Given the description of an element on the screen output the (x, y) to click on. 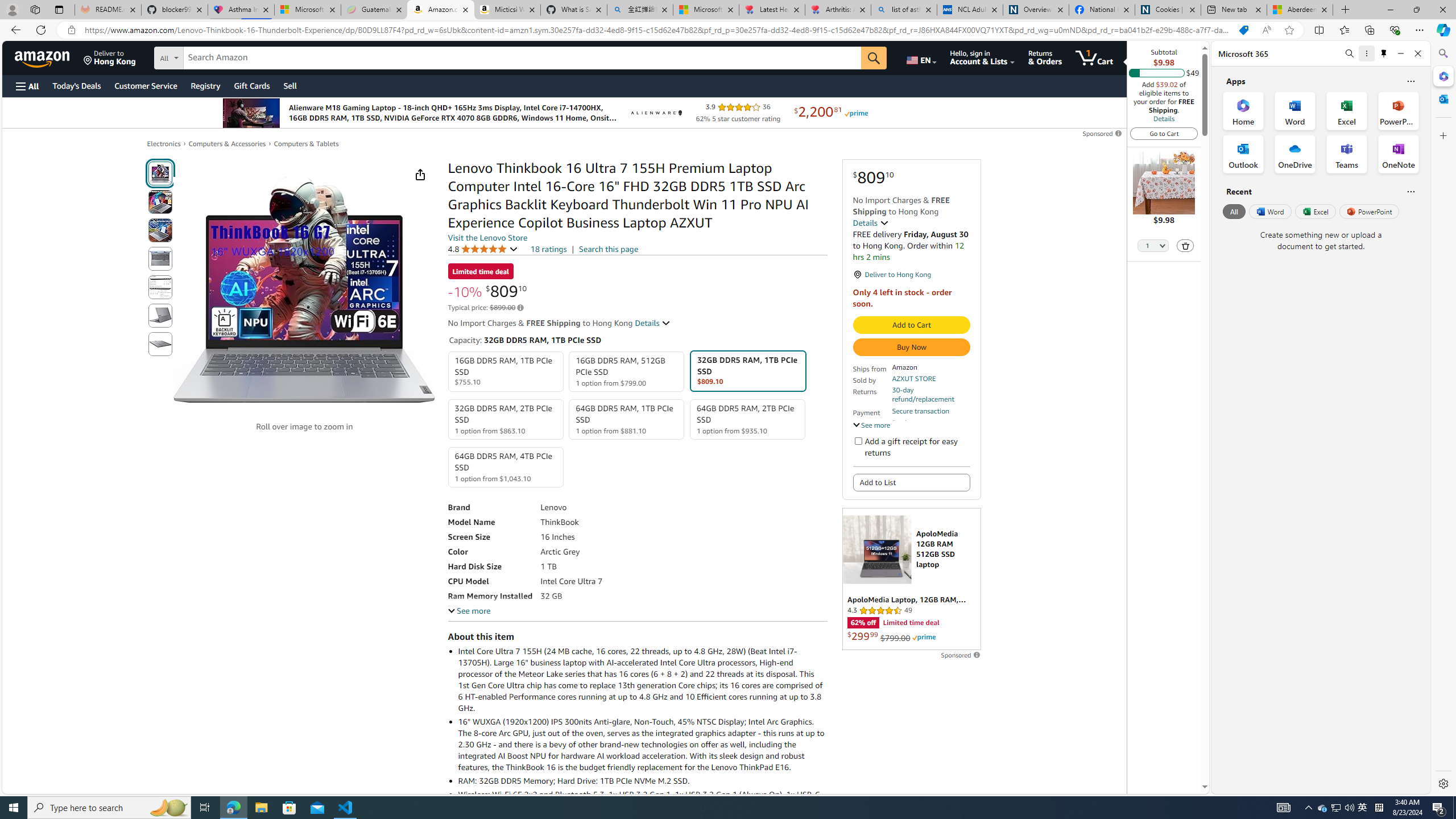
Asthma Inhalers: Names and Types (240, 9)
Visit the Lenovo Store (486, 237)
Today's Deals (76, 85)
Word (1269, 210)
OneNote Office App (1398, 154)
Logo (655, 112)
Share (419, 174)
30-day refund/replacement (930, 394)
Delete (1184, 245)
AZXUT STORE (913, 378)
